Given the description of an element on the screen output the (x, y) to click on. 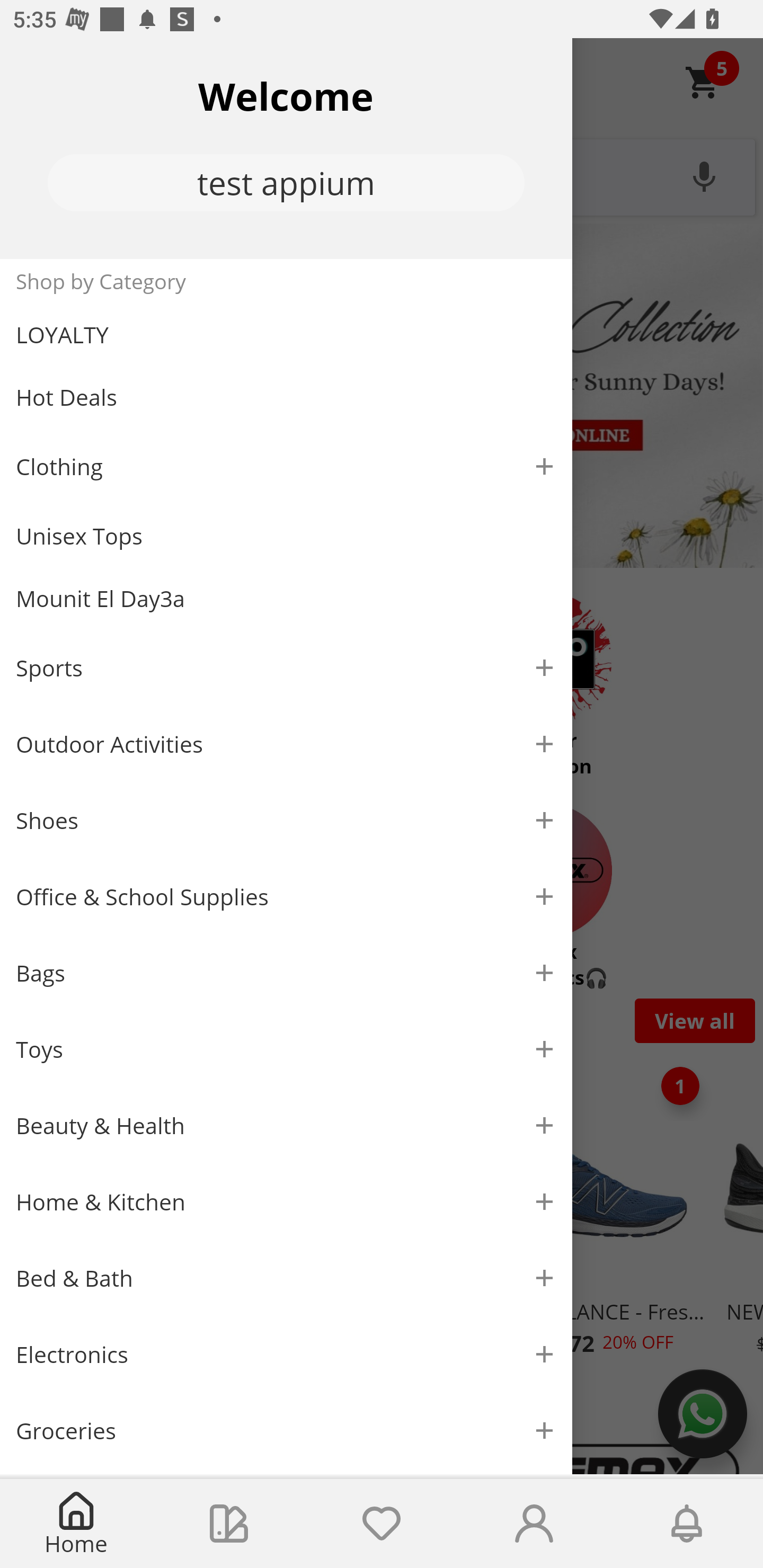
Welcome test appium (286, 147)
What are you looking for? (381, 175)
LOYALTY (286, 334)
Hot Deals (286, 396)
Clothing (286, 466)
Unisex Tops (286, 535)
Mounit El Day3a (286, 598)
Sports (286, 667)
Outdoor Activities (286, 743)
Shoes (286, 820)
Office & School Supplies (286, 896)
Bags (286, 972)
Toys (286, 1049)
Beauty & Health (286, 1125)
Home & Kitchen (286, 1201)
Bed & Bath (286, 1278)
Electronics (286, 1354)
Groceries (286, 1430)
Collections (228, 1523)
Wishlist (381, 1523)
Account (533, 1523)
Notifications (686, 1523)
